Given the description of an element on the screen output the (x, y) to click on. 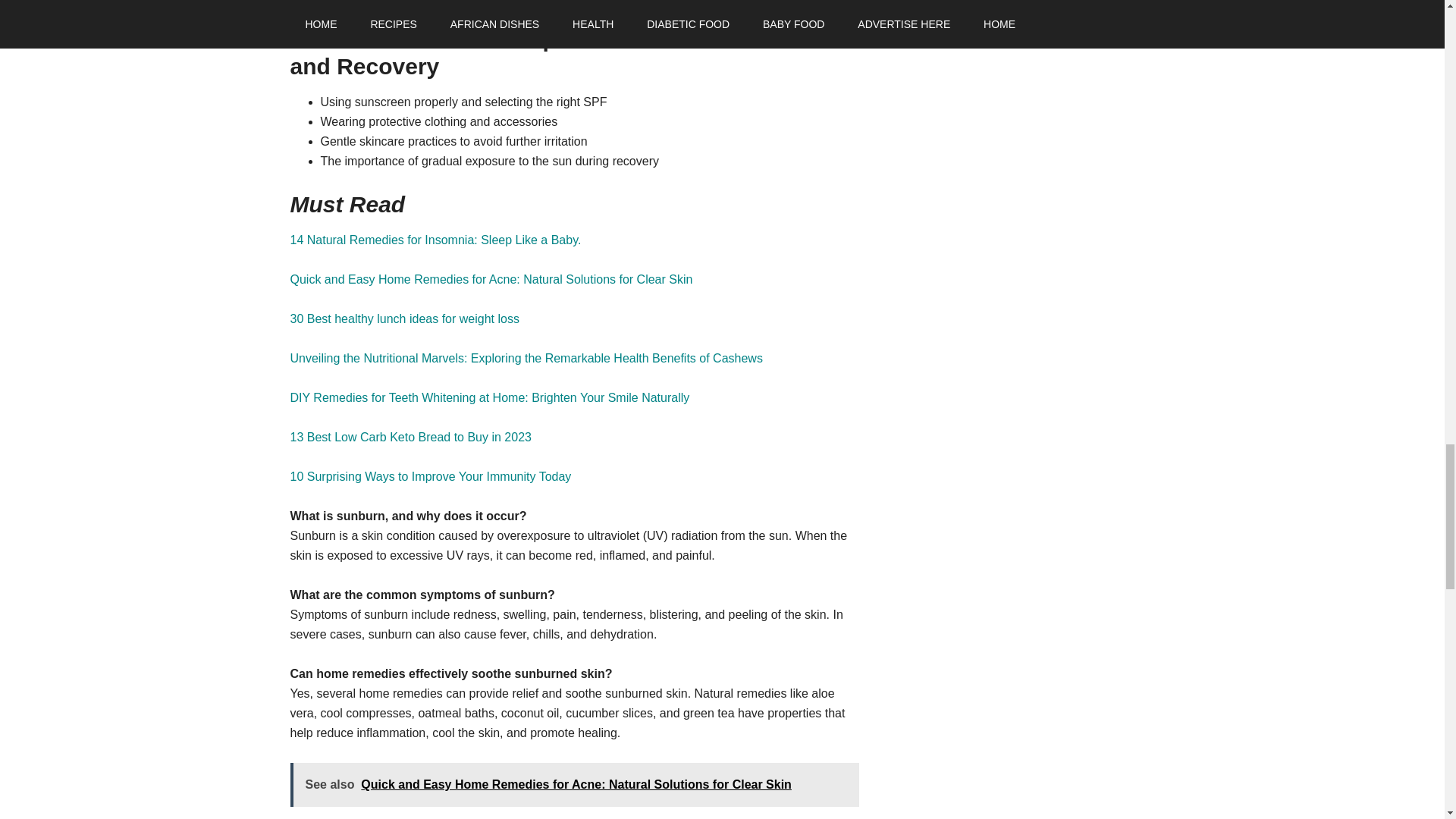
30 Best healthy lunch ideas for weight loss (403, 318)
14 Natural Remedies for Insomnia: Sleep Like a Baby. (434, 239)
13 Best Low Carb Keto Bread to Buy in 2023 (410, 436)
10 Surprising Ways to Improve Your Immunity Today (429, 476)
